Given the description of an element on the screen output the (x, y) to click on. 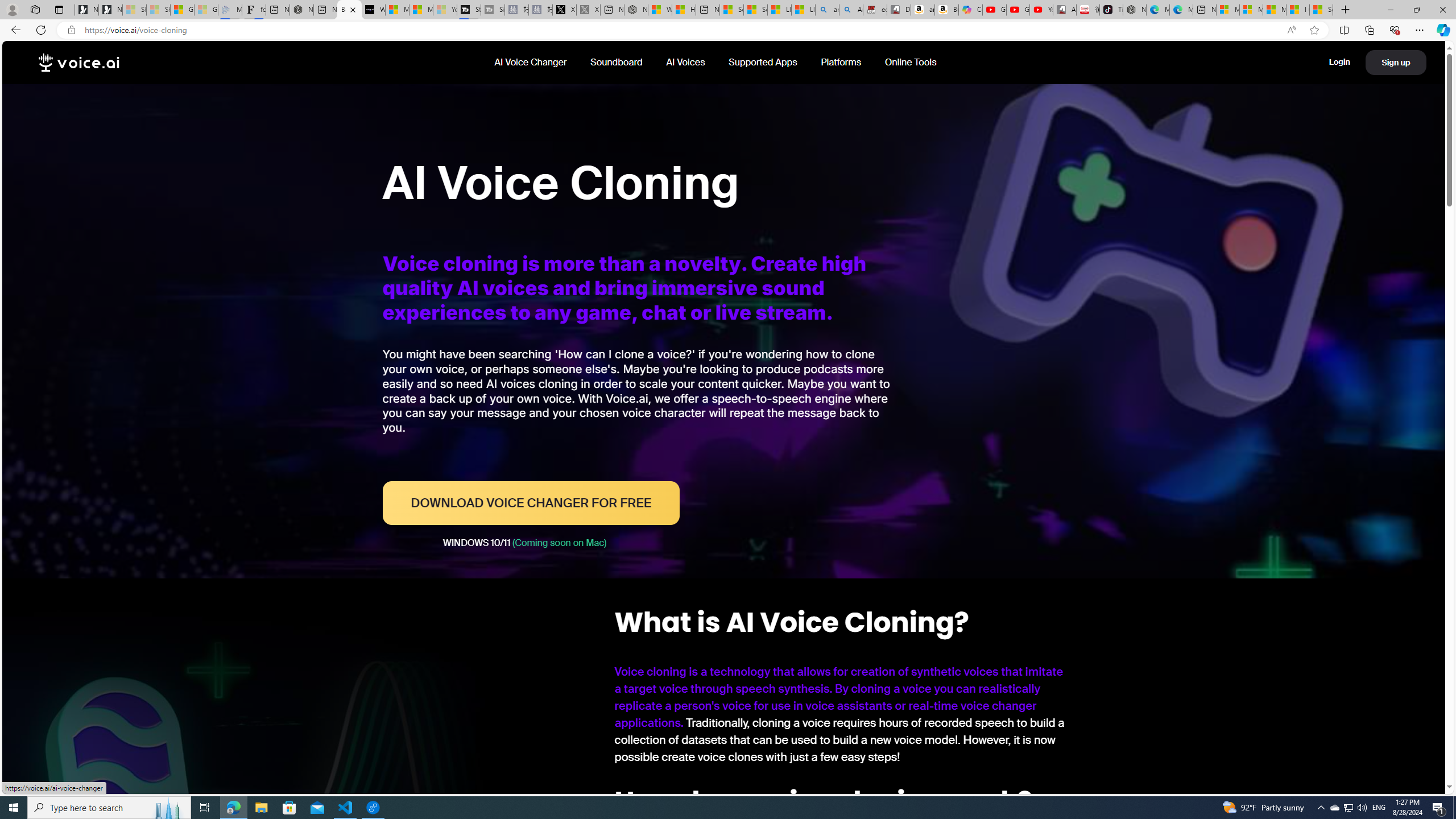
Streaming Coverage | T3 (469, 9)
Nordace - My Account (635, 9)
Platforms  (842, 61)
YouTube Kids - An App Created for Kids to Explore Content (1041, 9)
Soundboard  (617, 61)
voice.ai (79, 62)
